Given the description of an element on the screen output the (x, y) to click on. 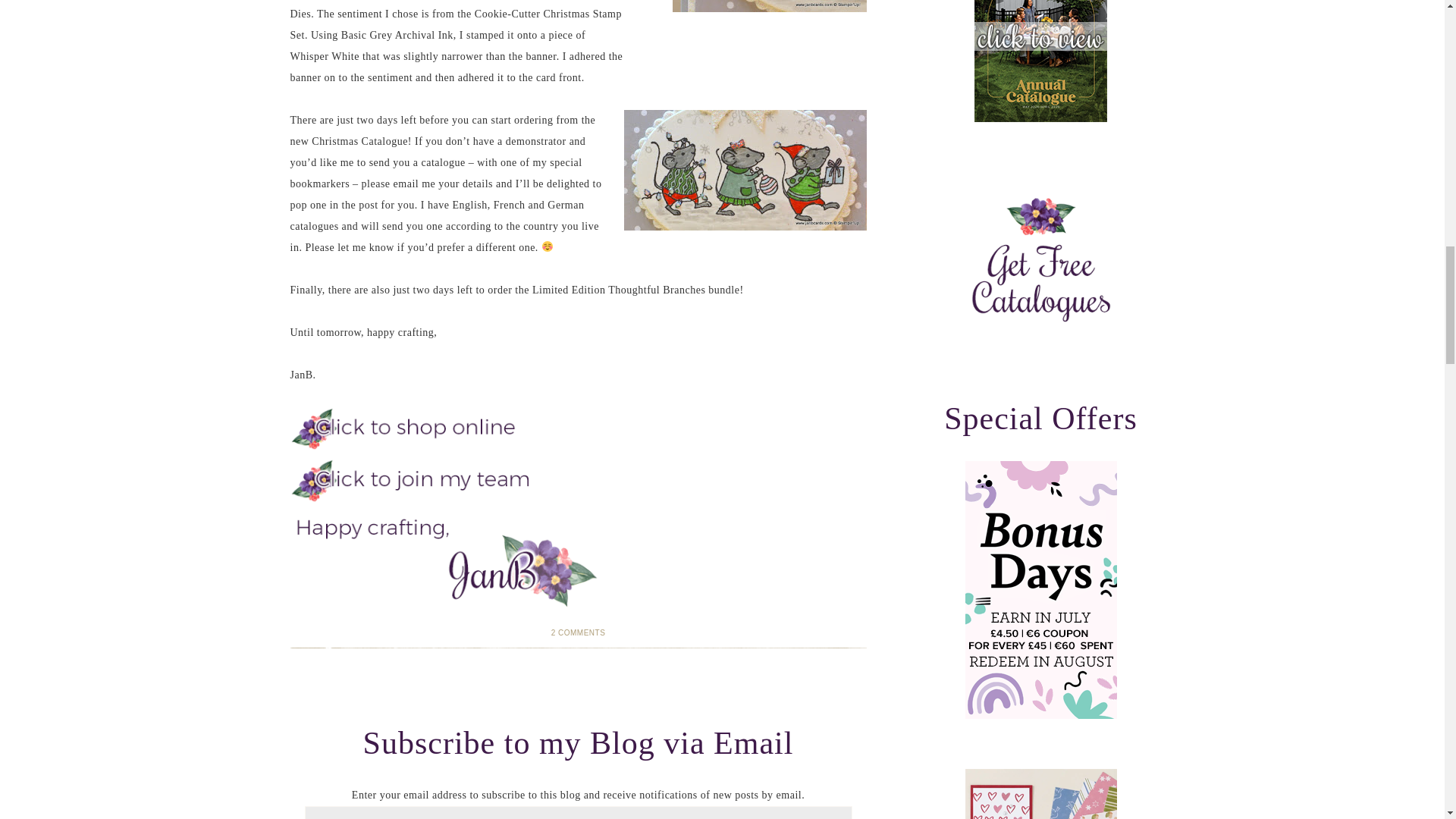
2 COMMENTS (578, 632)
